Given the description of an element on the screen output the (x, y) to click on. 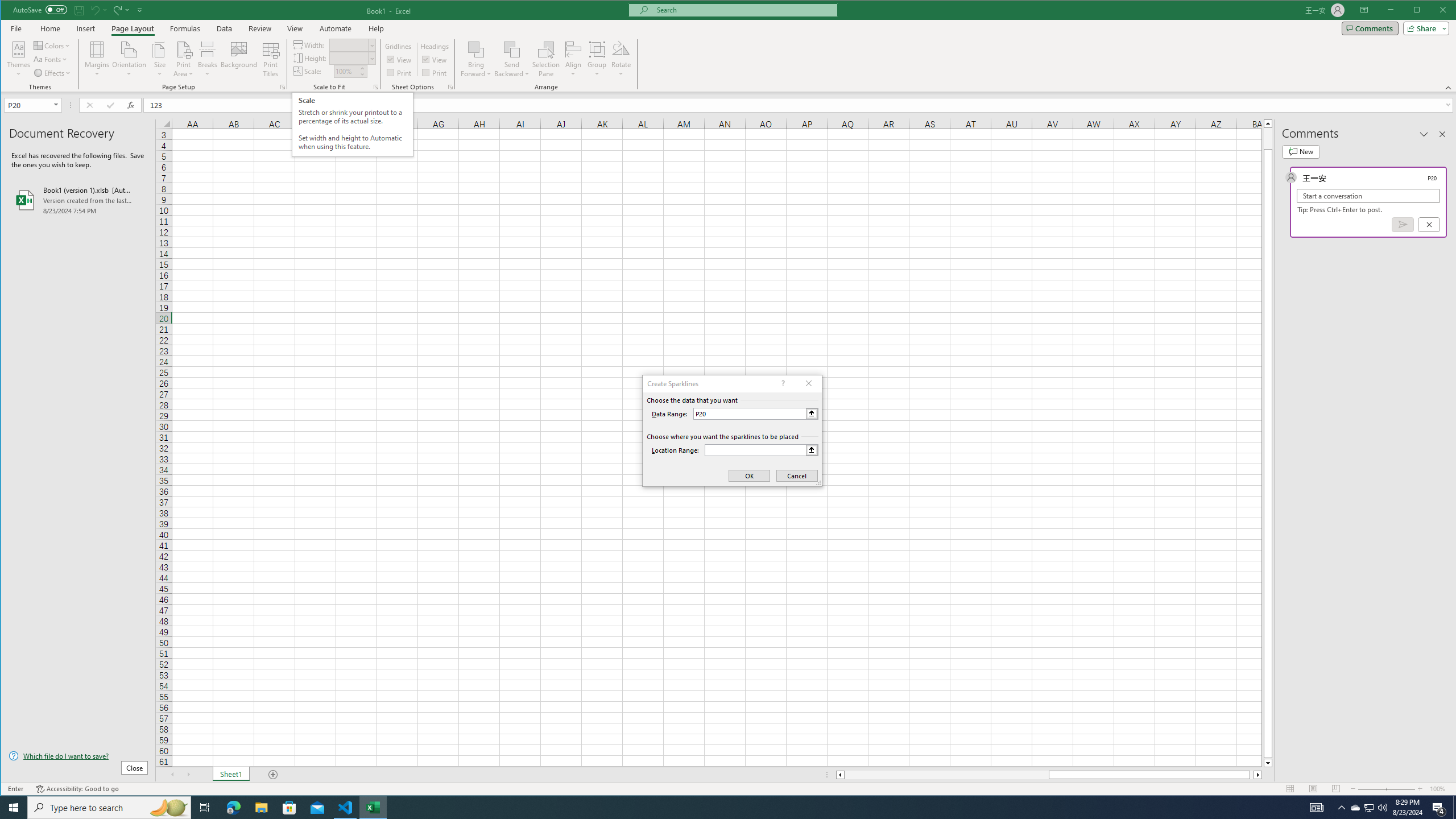
Save (79, 9)
Accessibility Checker Accessibility: Good to go (77, 788)
Close pane (1441, 133)
Group (596, 59)
Column right (1258, 774)
Page Setup (375, 86)
Scroll Right (188, 774)
Automate (336, 28)
View (294, 28)
New comment (1300, 151)
Class: MsoCommandBar (728, 45)
Breaks (207, 59)
Column left (839, 774)
AutoSave (39, 9)
